Given the description of an element on the screen output the (x, y) to click on. 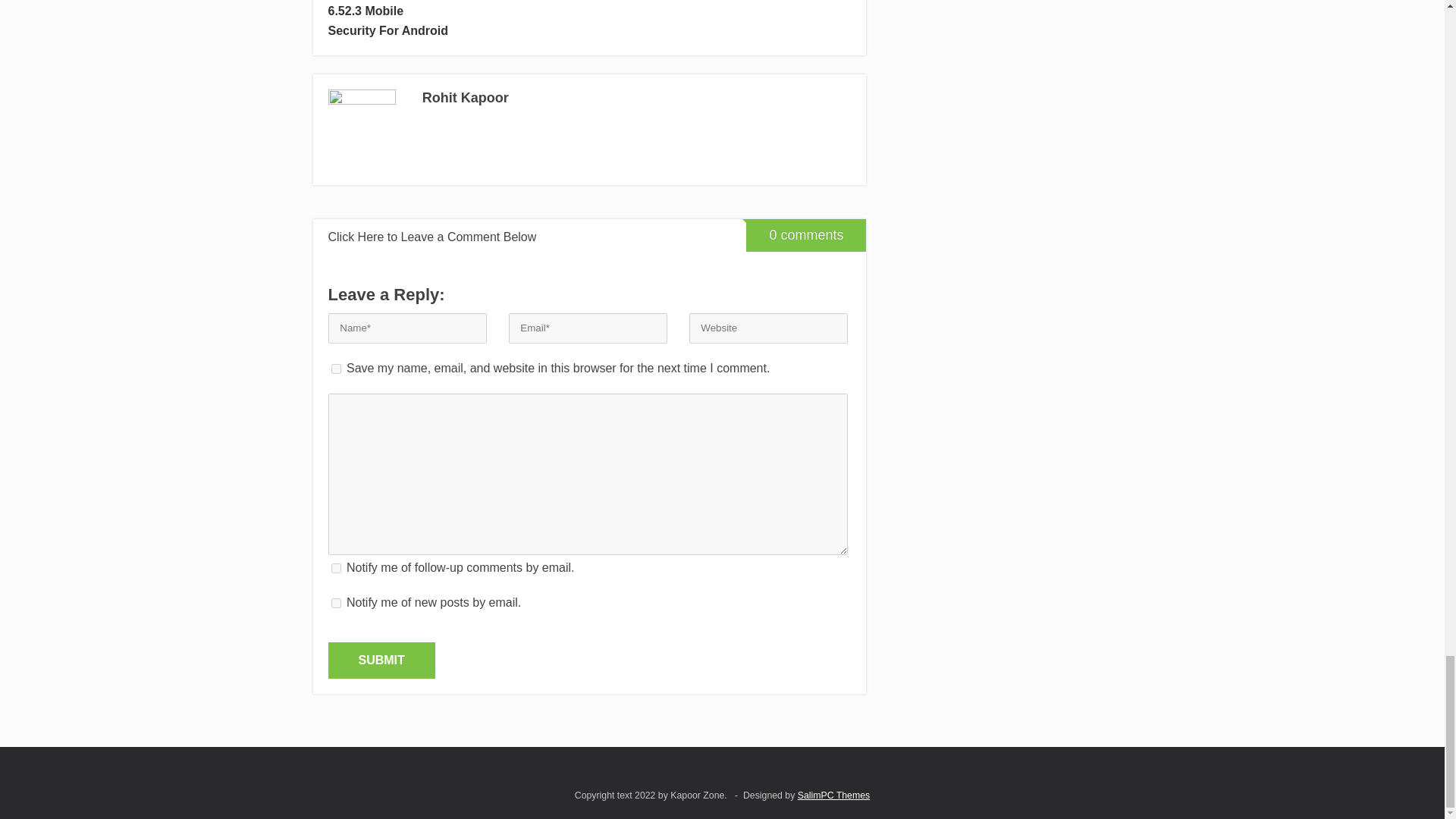
SalimPC Themes (833, 795)
SUBMIT (380, 660)
subscribe (335, 568)
yes (335, 368)
AVG AntiVirus PRO 6.52.3 Mobile Security For Android (388, 20)
SUBMIT (380, 660)
subscribe (335, 603)
